Given the description of an element on the screen output the (x, y) to click on. 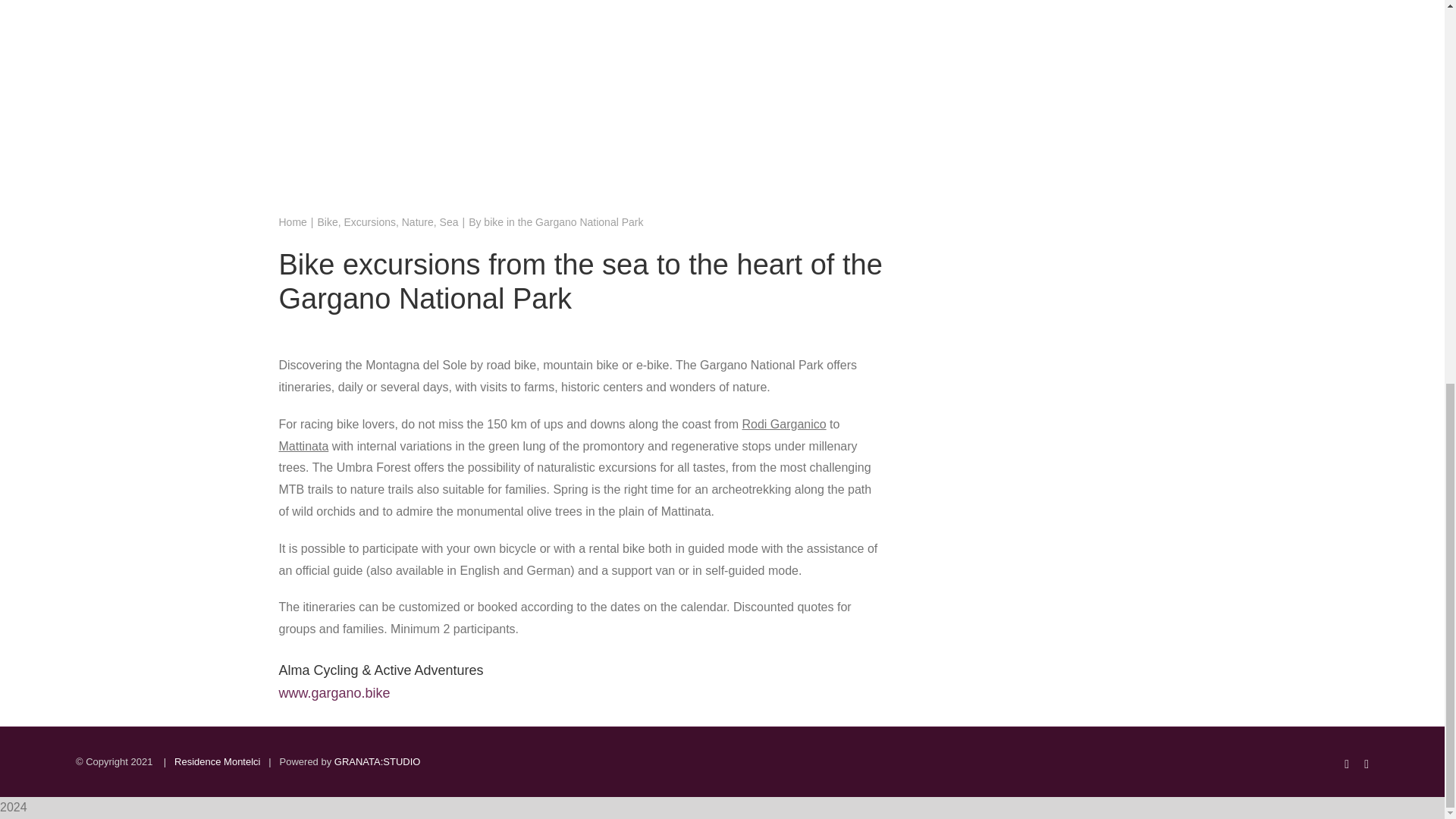
Excursions (369, 222)
Bike (327, 222)
Nature (417, 222)
INVIO (1054, 7)
Home (291, 222)
